Given the description of an element on the screen output the (x, y) to click on. 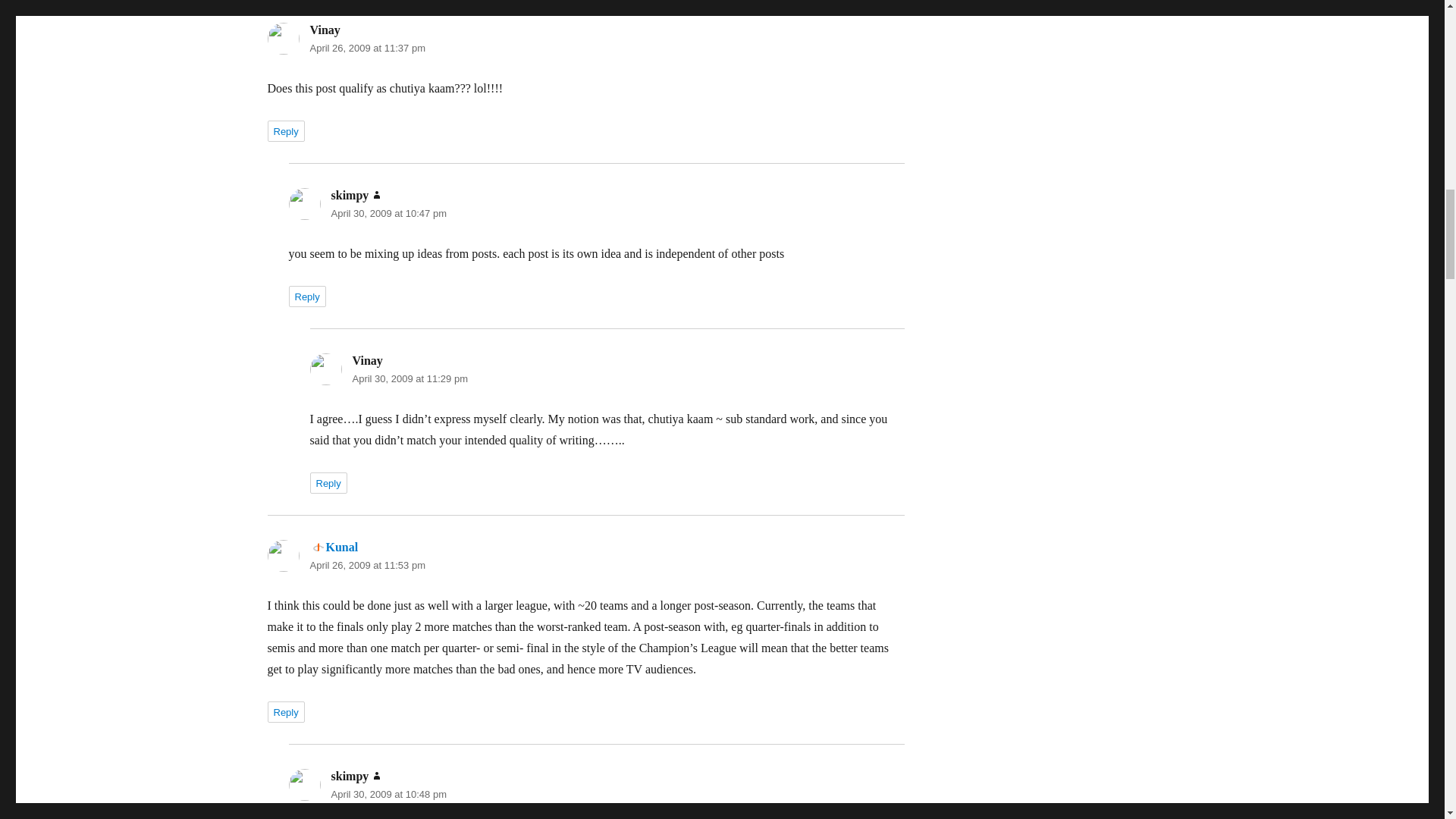
April 30, 2009 at 10:47 pm (388, 213)
April 26, 2009 at 11:53 pm (366, 564)
Reply (285, 711)
Reply (327, 482)
Reply (306, 296)
Kunal (333, 546)
April 26, 2009 at 11:37 pm (366, 48)
April 30, 2009 at 11:29 pm (409, 378)
Reply (285, 130)
April 30, 2009 at 10:48 pm (388, 794)
